Given the description of an element on the screen output the (x, y) to click on. 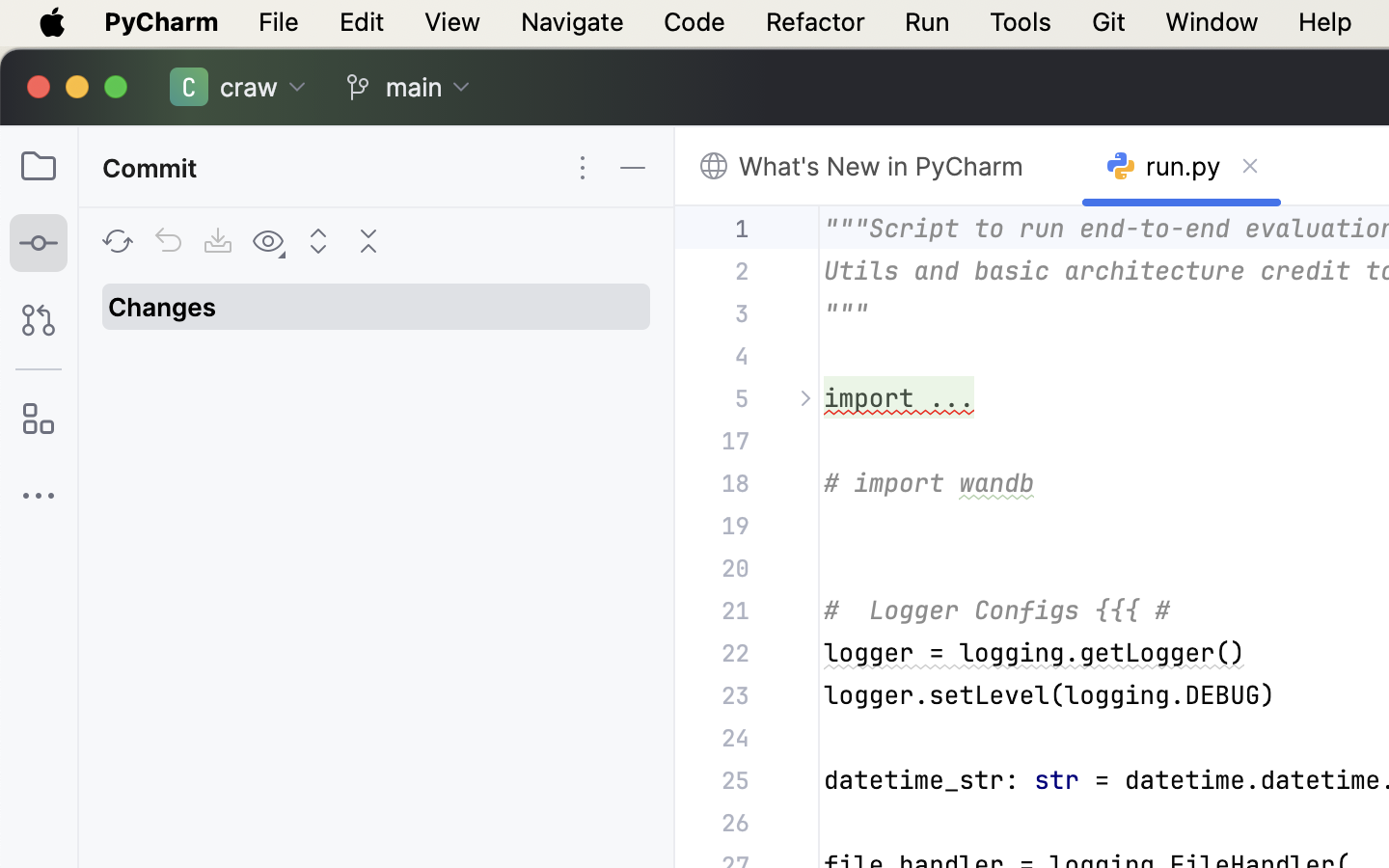
0 Element type: AXRadioButton (879, 166)
0 Element type: AXStaticText (162, 306)
0 Element type: AXGroup (319, 86)
Commit Element type: AXStaticText (153, 167)
